Given the description of an element on the screen output the (x, y) to click on. 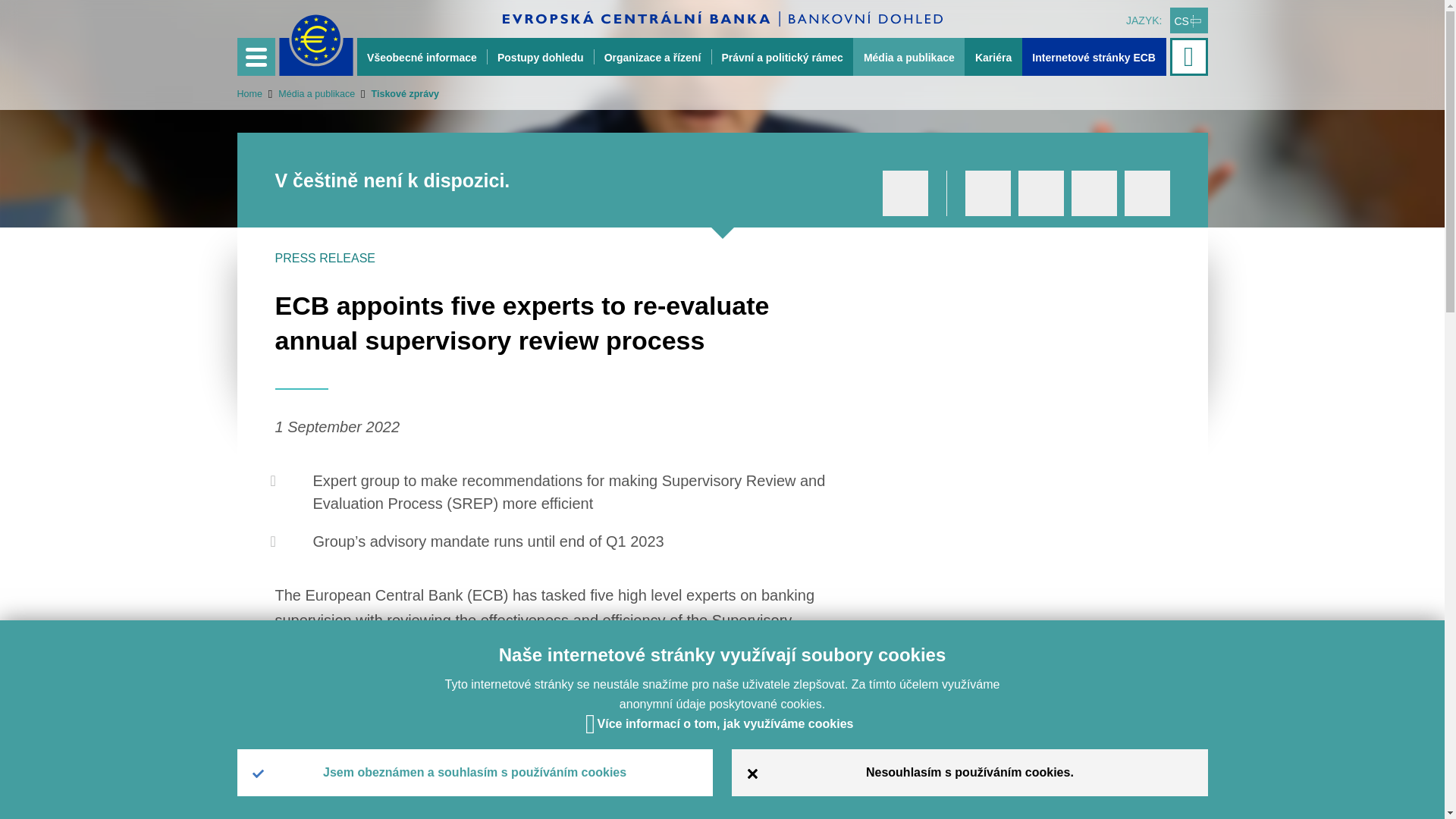
Search (1190, 56)
Menu (255, 56)
Postupy dohledu (540, 56)
Home (248, 93)
